Given the description of an element on the screen output the (x, y) to click on. 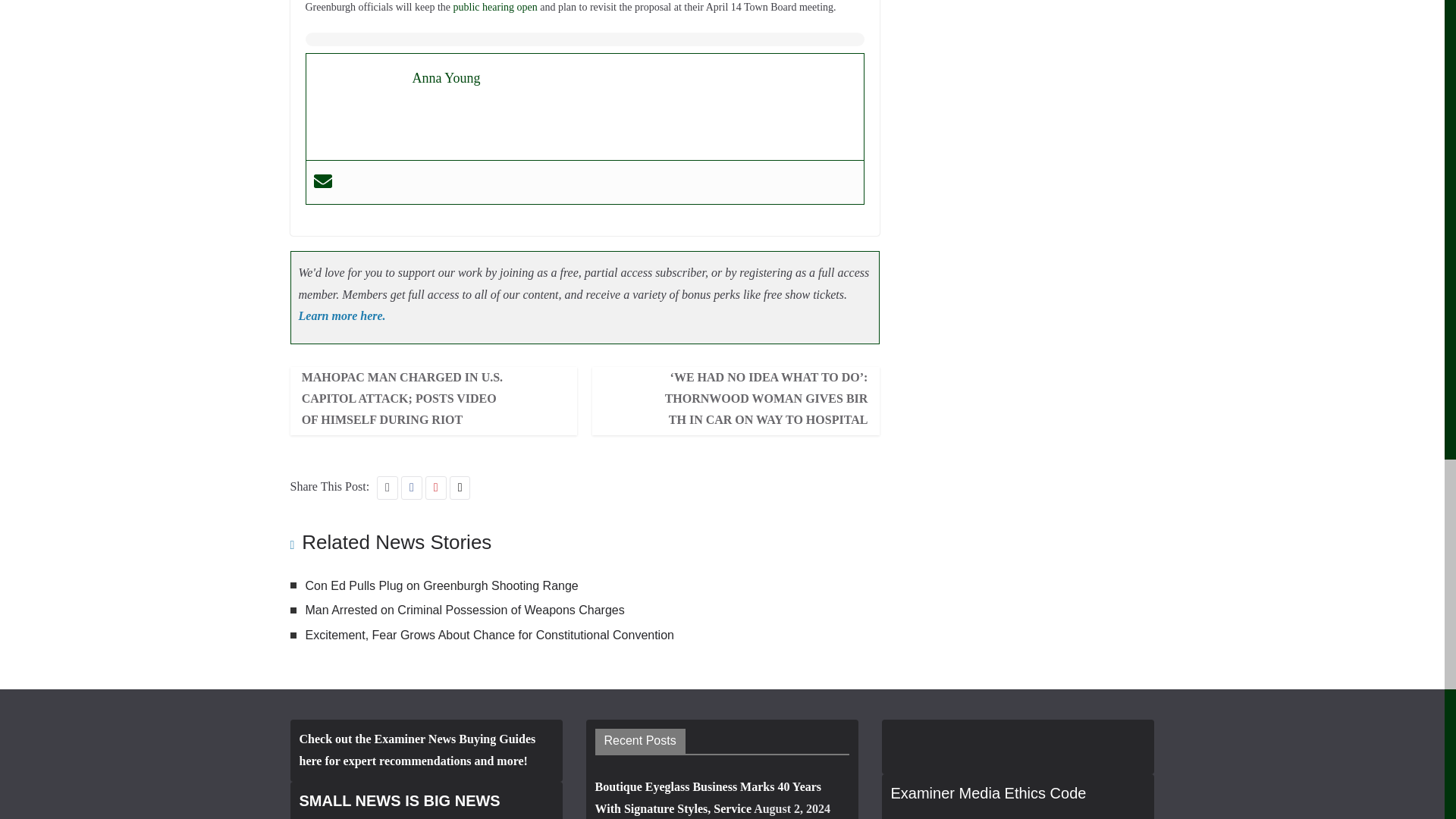
Con Ed Pulls Plug on Greenburgh Shooting Range (441, 585)
Man Arrested on Criminal Possession of Weapons Charges (464, 609)
